Given the description of an element on the screen output the (x, y) to click on. 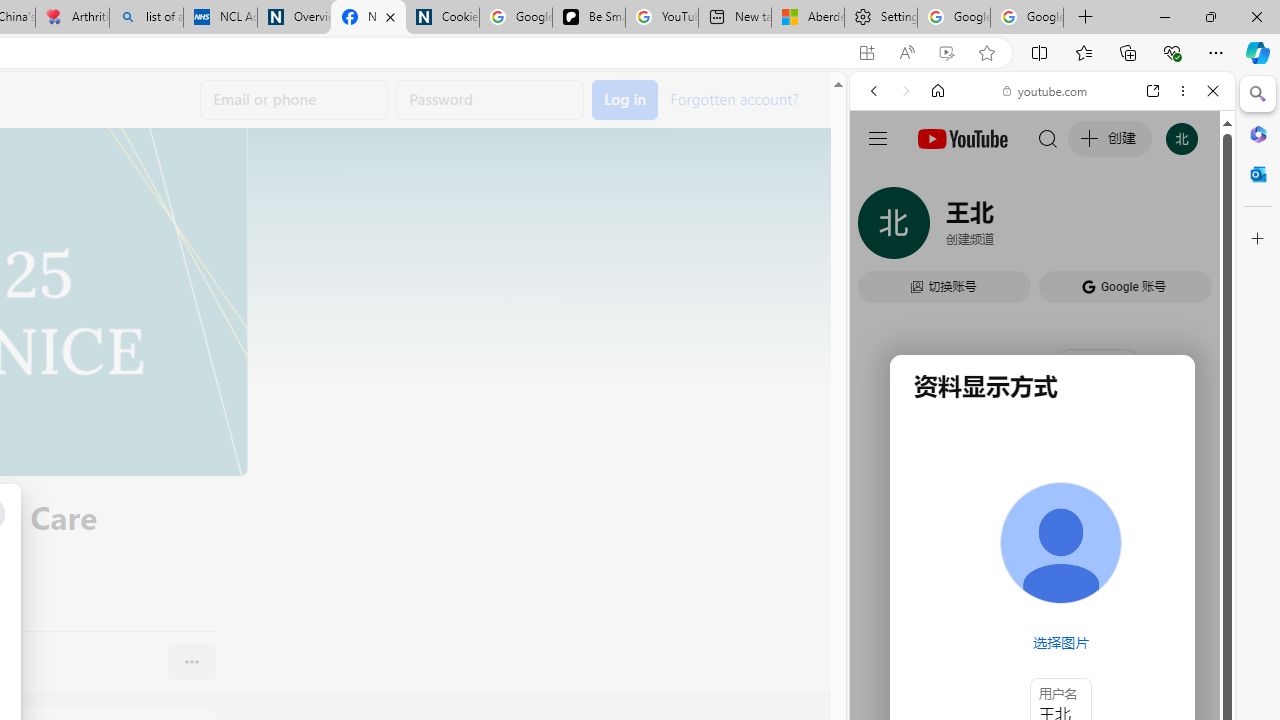
Cookies (441, 17)
Music (1042, 543)
SEARCH TOOLS (1093, 228)
Forgotten account? (733, 97)
IMAGES (939, 228)
#you (1042, 445)
Search the web (1051, 137)
list of asthma inhalers uk - Search (146, 17)
